Given the description of an element on the screen output the (x, y) to click on. 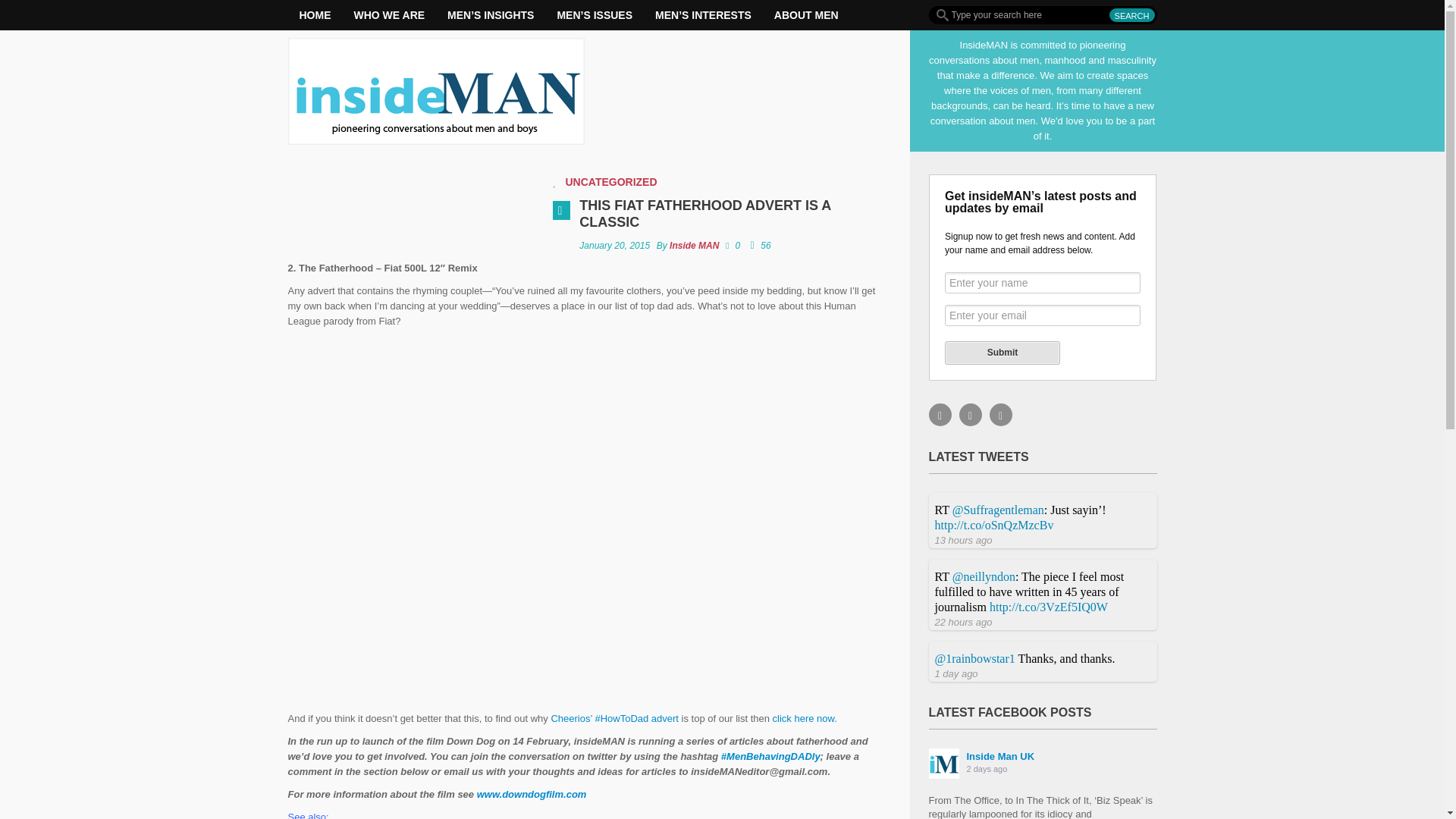
THIS FIAT FATHERHOOD ADVERT IS A CLASSIC (704, 214)
Submit (1001, 352)
Inside Man UK on Facebook (996, 763)
UNCATEGORIZED (612, 182)
ABOUT MEN (806, 15)
Search (1131, 15)
HOME (315, 15)
THE SOCIAL, CULTURAL AND POLITICAL IMPACT OF BEING A MAN (593, 15)
www.downdogfilm.com (531, 794)
WHO WE ARE (389, 15)
